Given the description of an element on the screen output the (x, y) to click on. 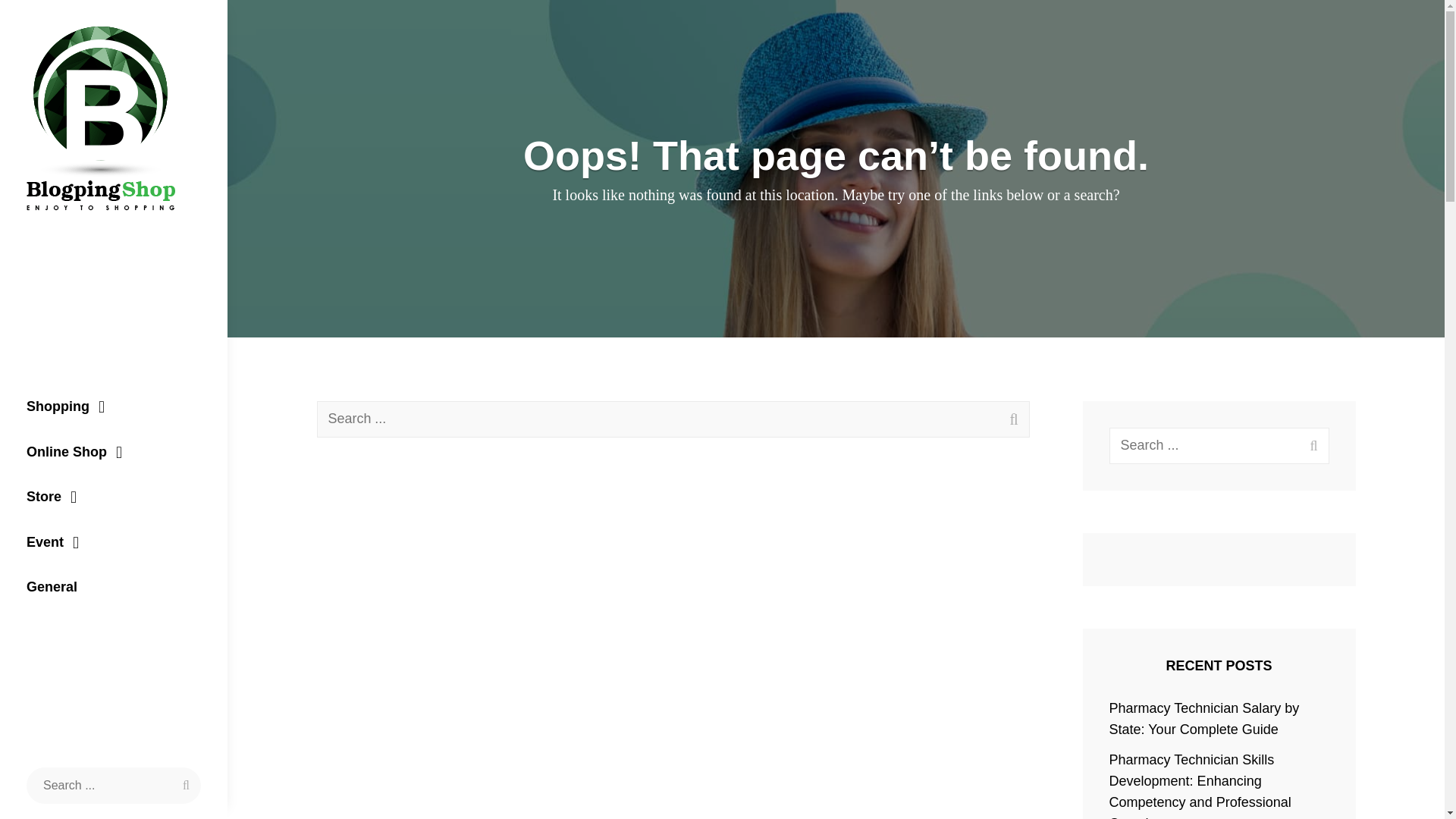
BLOGPING SHOP (90, 246)
Store (113, 497)
Search for: (113, 785)
Online Shop (113, 452)
Event (113, 542)
Search for: (1219, 445)
Search for: (673, 418)
Shopping (113, 406)
